Given the description of an element on the screen output the (x, y) to click on. 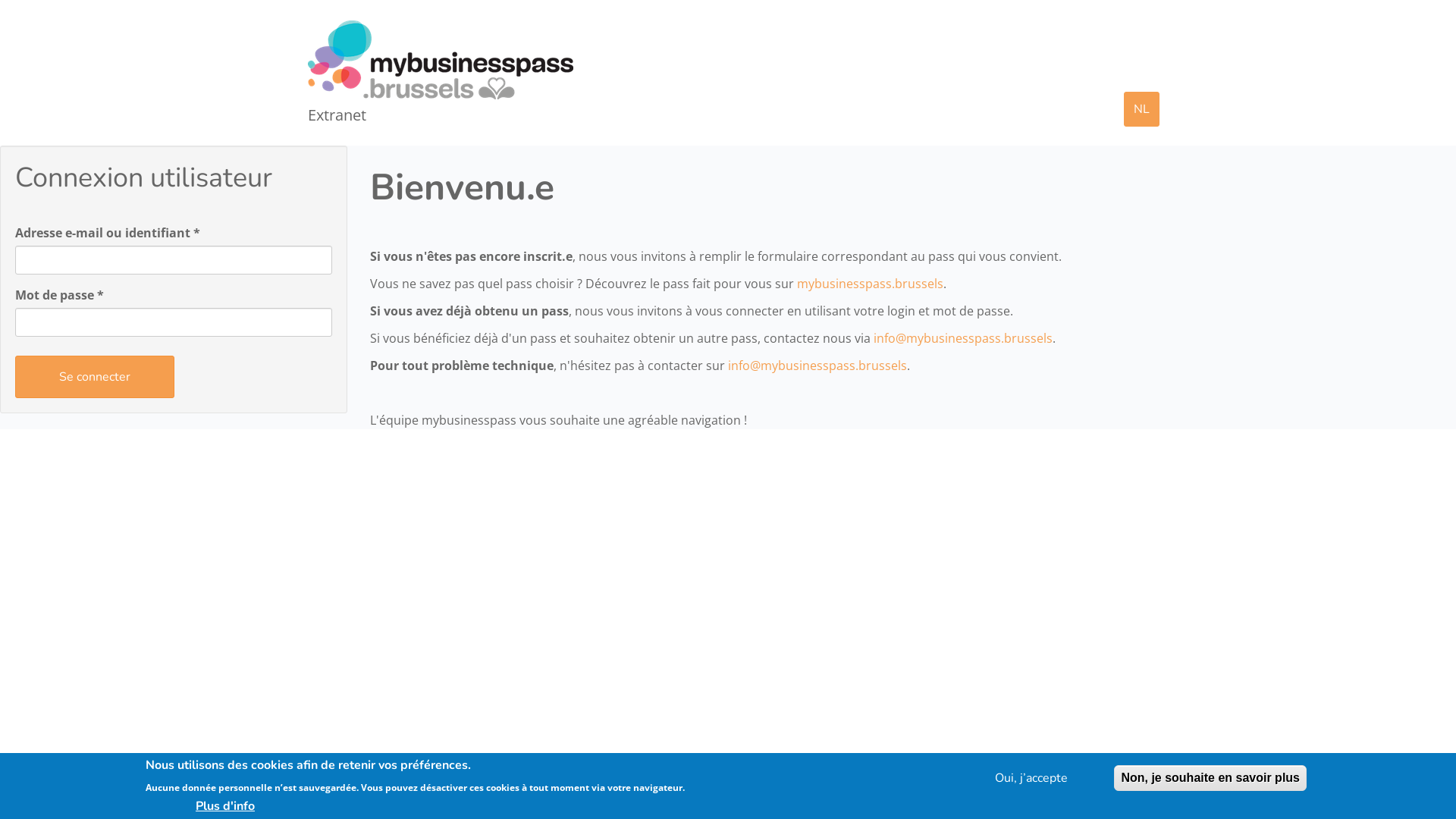
info@mybusinesspass.brussels Element type: text (817, 365)
Non, je souhaite en savoir plus Element type: text (1209, 777)
Accueil Element type: hover (445, 59)
mybusinesspass.brussels Element type: text (869, 283)
Plus d'info Element type: text (224, 805)
Se connecter Element type: text (94, 376)
Aller au contenu principal Element type: text (0, 15)
NL Element type: text (1141, 108)
info@mybusinesspass.brussels Element type: text (962, 337)
